Given the description of an element on the screen output the (x, y) to click on. 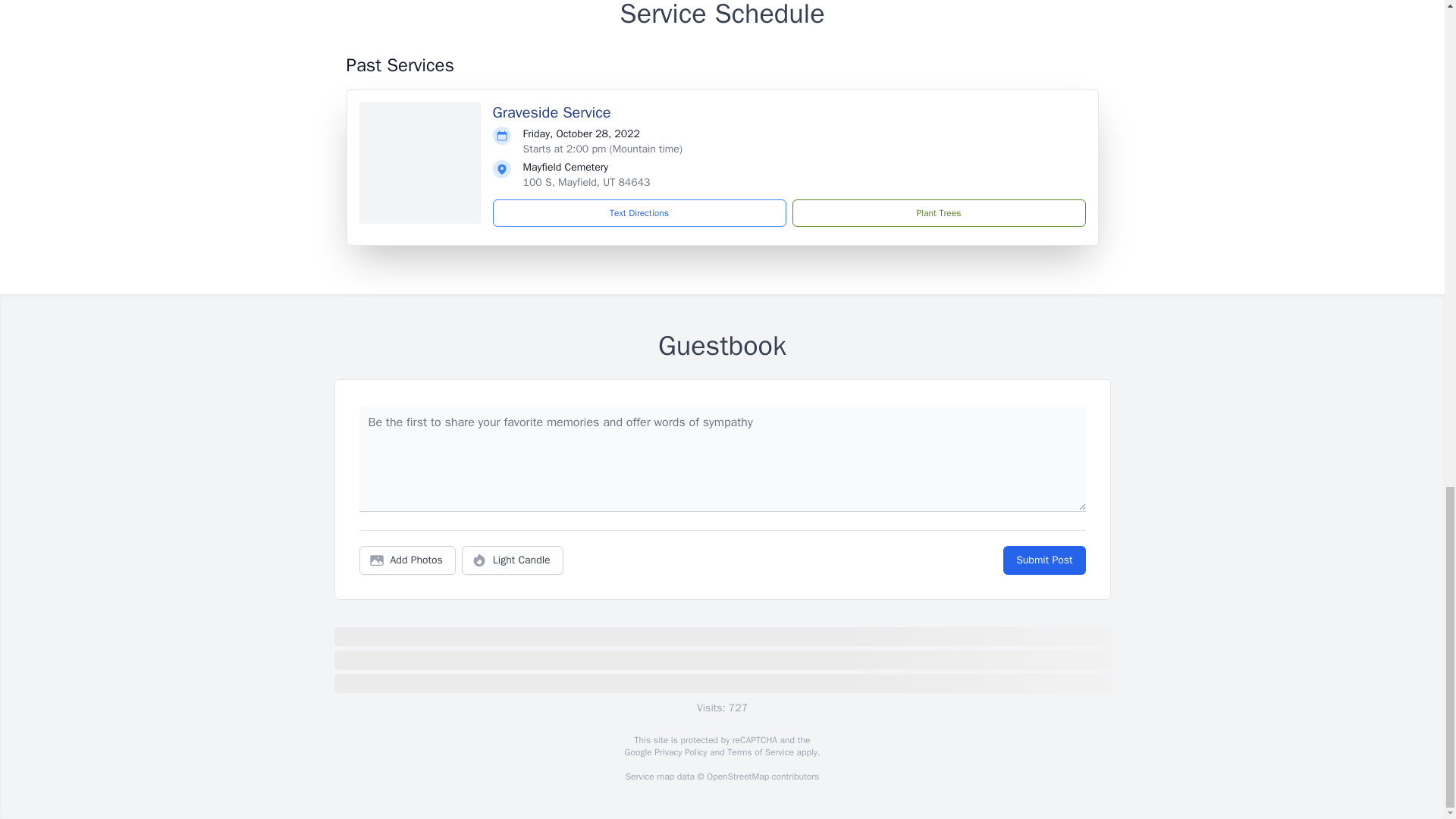
Add Photos (407, 560)
Privacy Policy (679, 752)
Text Directions (639, 212)
Terms of Service (759, 752)
Plant Trees (938, 212)
100 S, Mayfield, UT 84643 (586, 182)
Light Candle (512, 560)
OpenStreetMap (737, 776)
Submit Post (1043, 560)
